Given the description of an element on the screen output the (x, y) to click on. 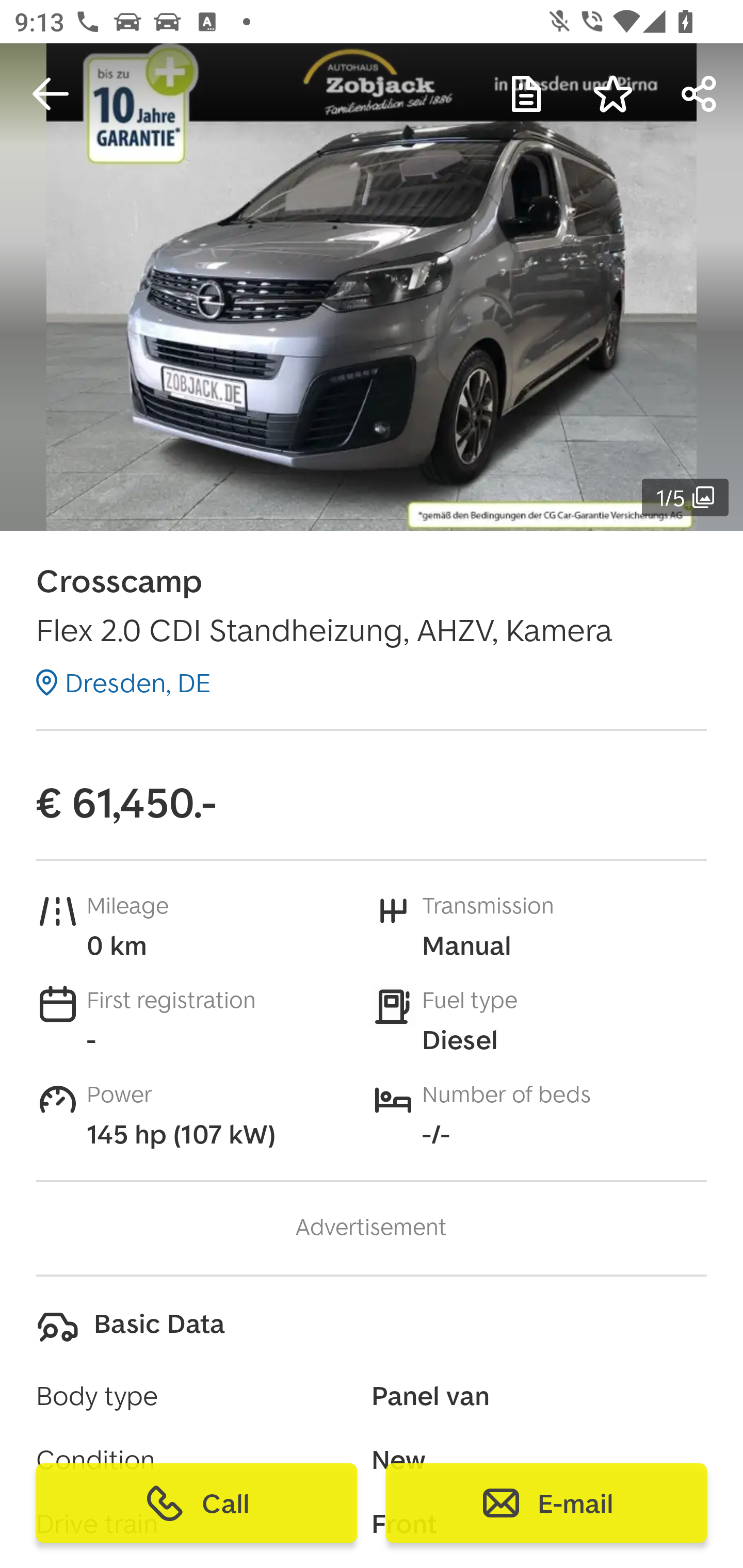
Navigate up (50, 93)
My Notes (525, 93)
Save (612, 93)
Forward (699, 93)
Dresden, DE (123, 681)
Call (196, 1502)
E-mail (545, 1502)
